Given the description of an element on the screen output the (x, y) to click on. 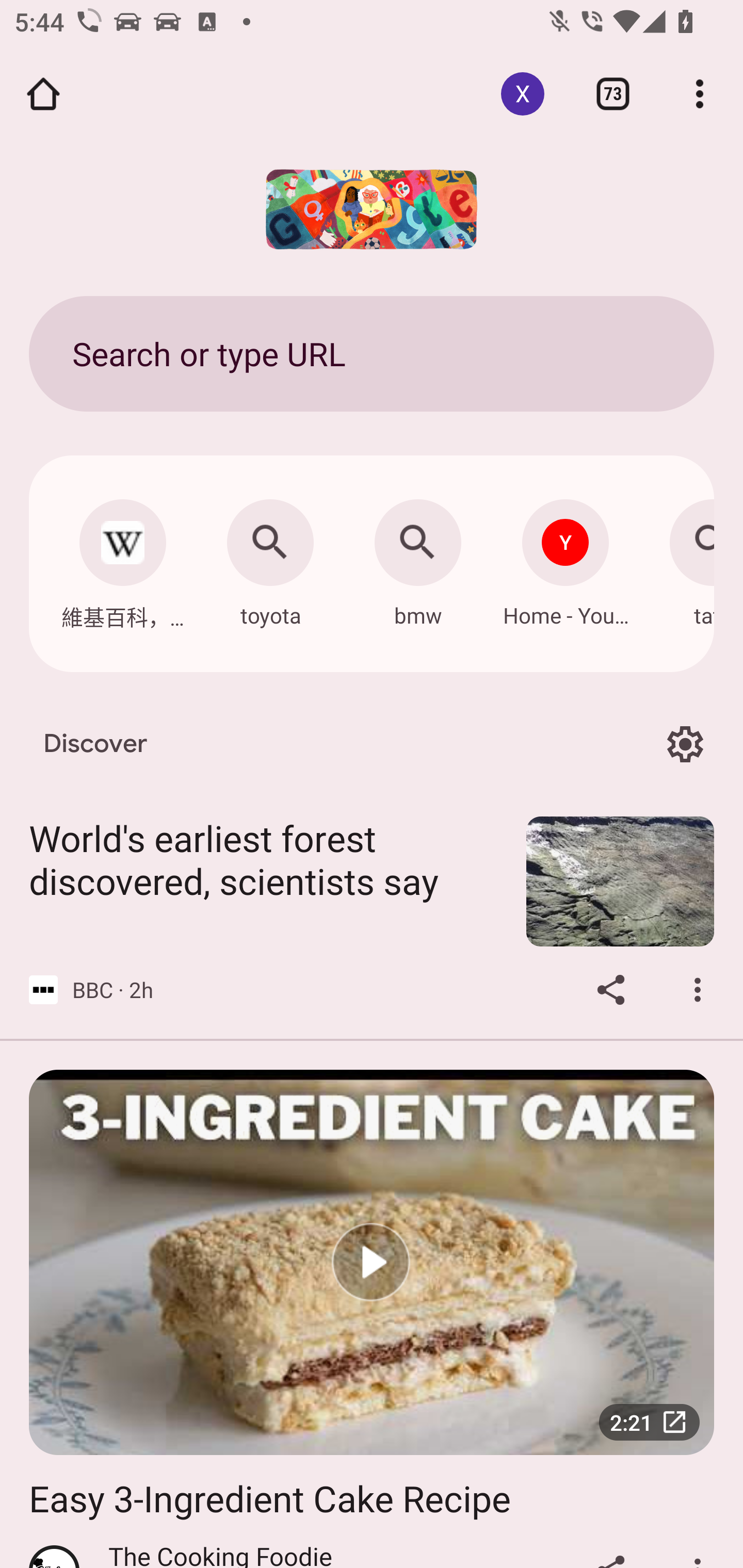
Open the home page (43, 93)
Switch or close tabs (612, 93)
Customize and control Google Chrome (699, 93)
Google doodle: International Women's Day 2024 (371, 209)
Search or type URL (371, 353)
Search: toyota toyota (270, 558)
Search: bmw bmw (417, 558)
Options for Discover (684, 743)
